Given the description of an element on the screen output the (x, y) to click on. 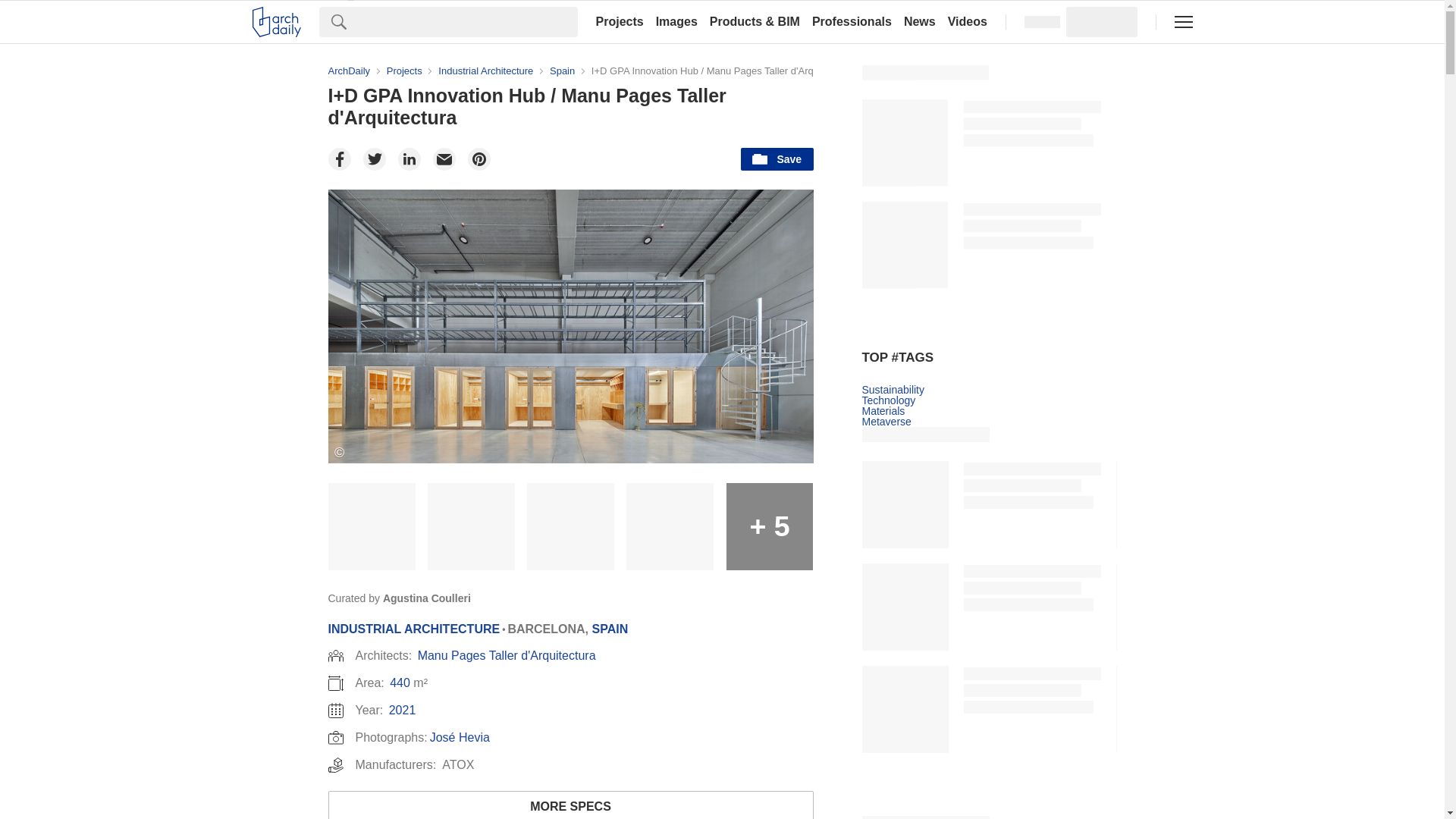
Videos (967, 21)
News (920, 21)
Images (676, 21)
Professionals (852, 21)
Projects (619, 21)
